Given the description of an element on the screen output the (x, y) to click on. 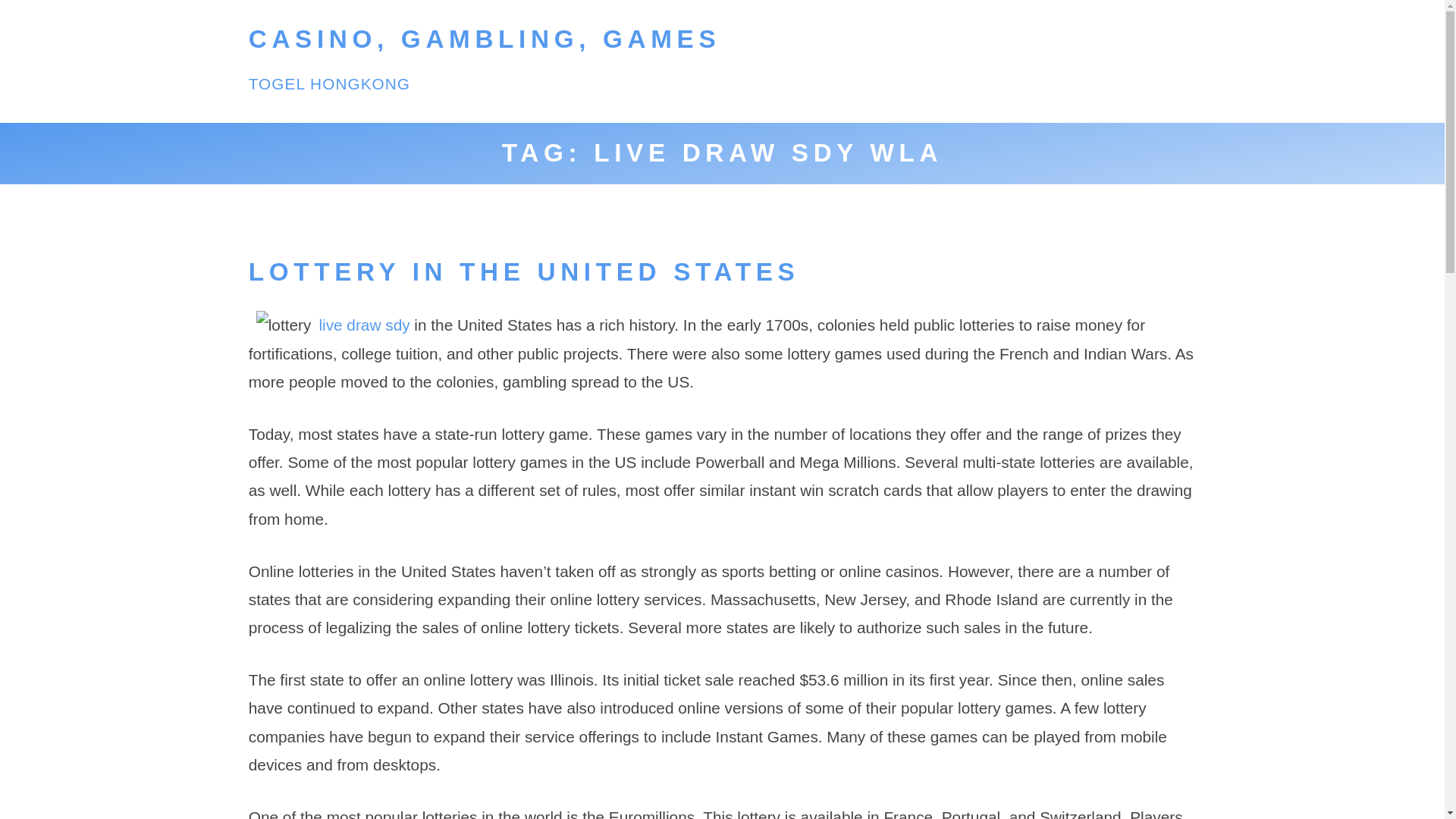
LOTTERY IN THE UNITED STATES (523, 271)
live draw sdy (363, 324)
TOGEL HONGKONG (329, 83)
CASINO, GAMBLING, GAMES (484, 39)
